Given the description of an element on the screen output the (x, y) to click on. 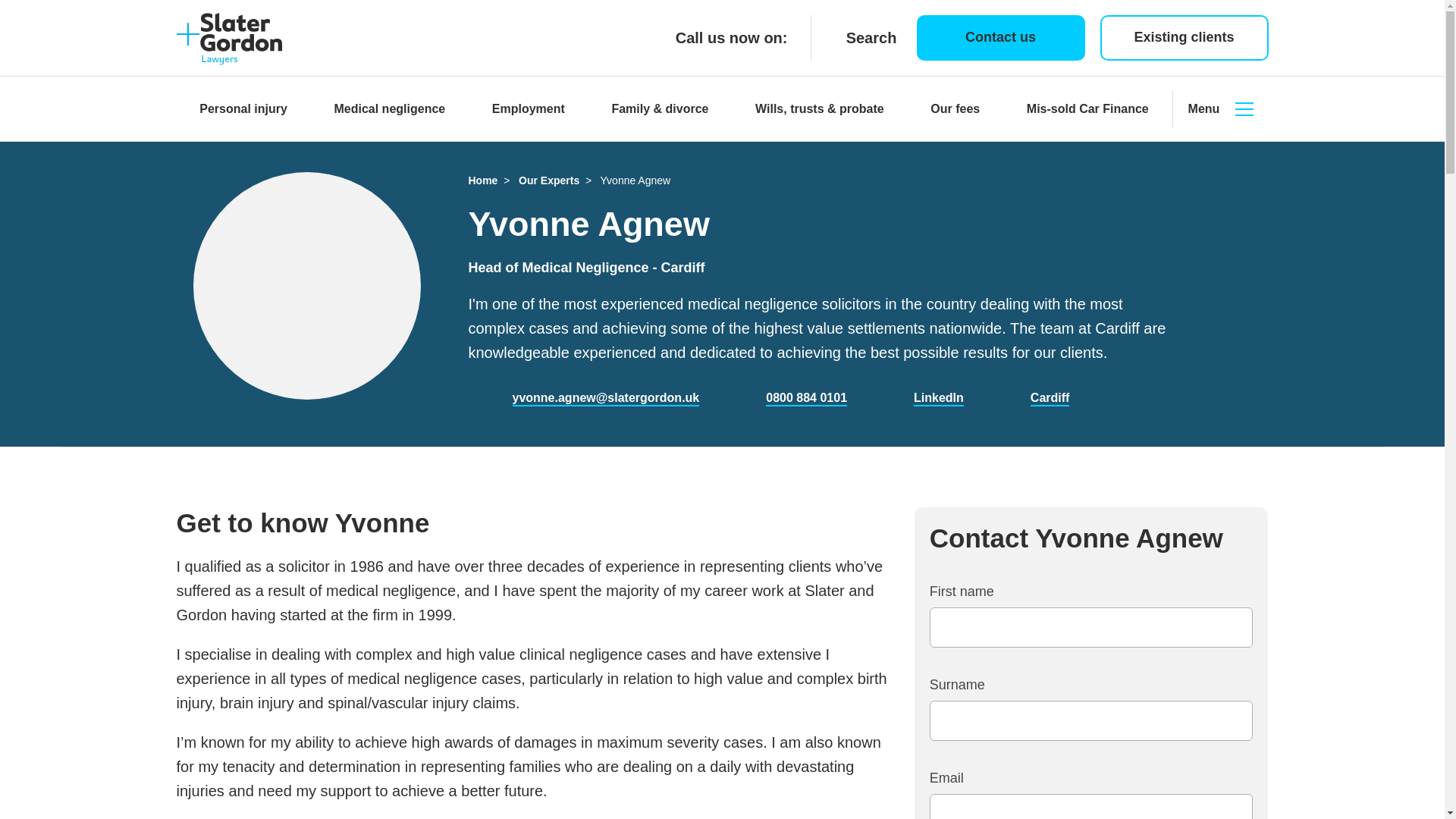
Personal injury (243, 108)
Slater and Gordon logo (229, 39)
Existing clients (1183, 37)
Menu (1220, 108)
Contact us (999, 37)
Search (855, 37)
